Given the description of an element on the screen output the (x, y) to click on. 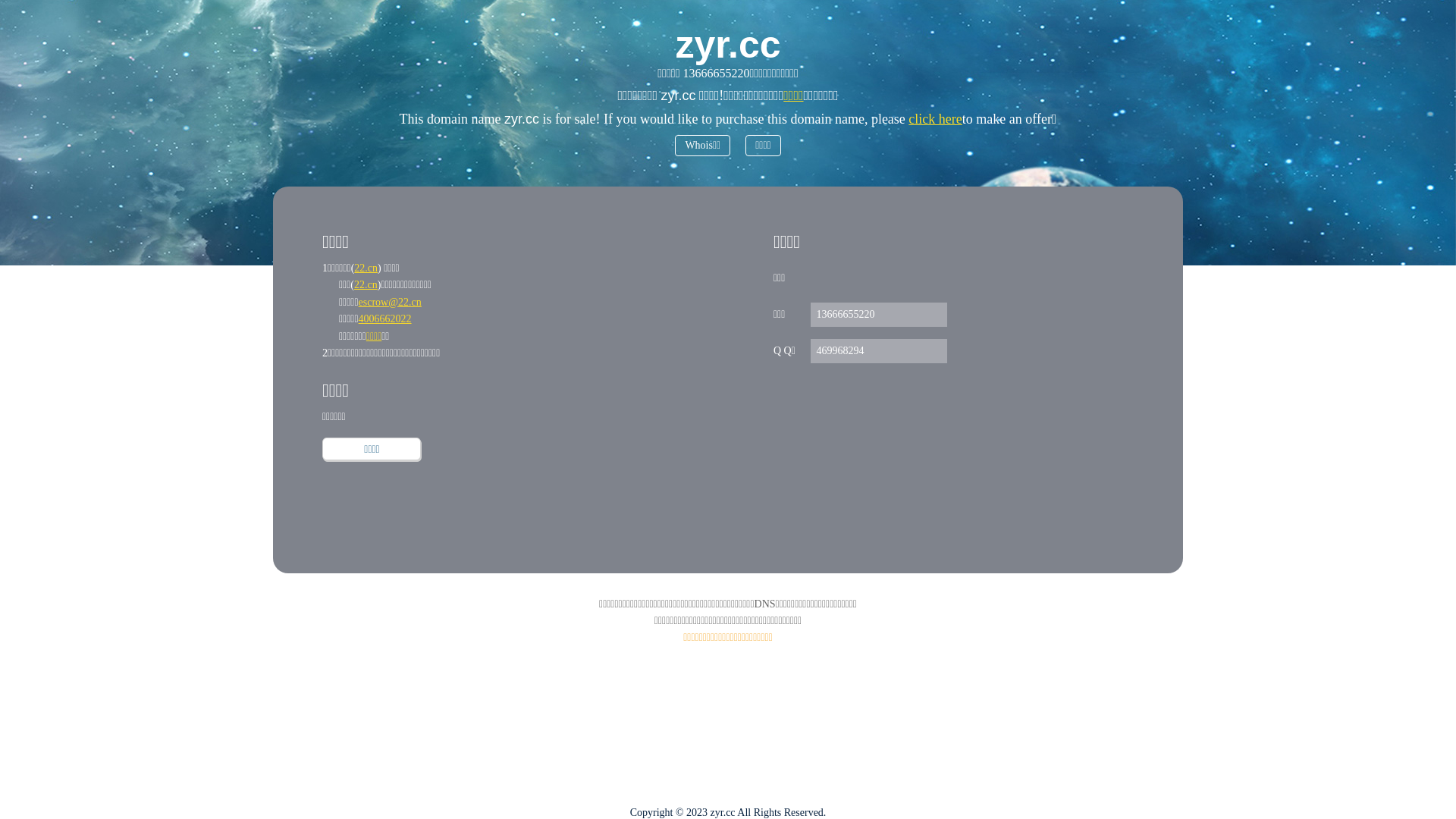
22.cn Element type: text (365, 267)
22.cn Element type: text (365, 284)
click here Element type: text (934, 118)
escrow@22.cn Element type: text (389, 301)
4006662022 Element type: text (384, 318)
